Given the description of an element on the screen output the (x, y) to click on. 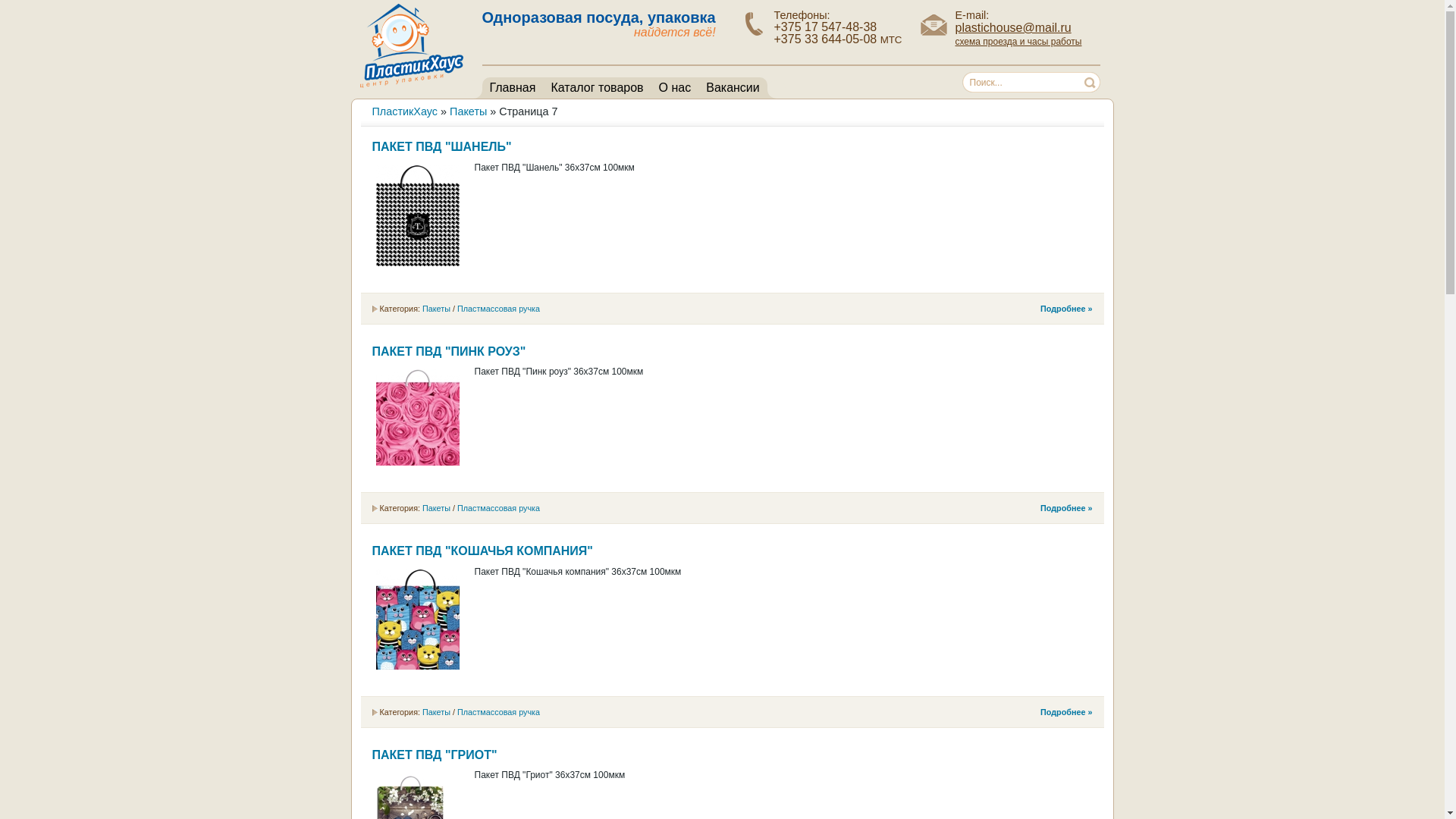
plastichouse@mail.ru Element type: text (1013, 27)
